Given the description of an element on the screen output the (x, y) to click on. 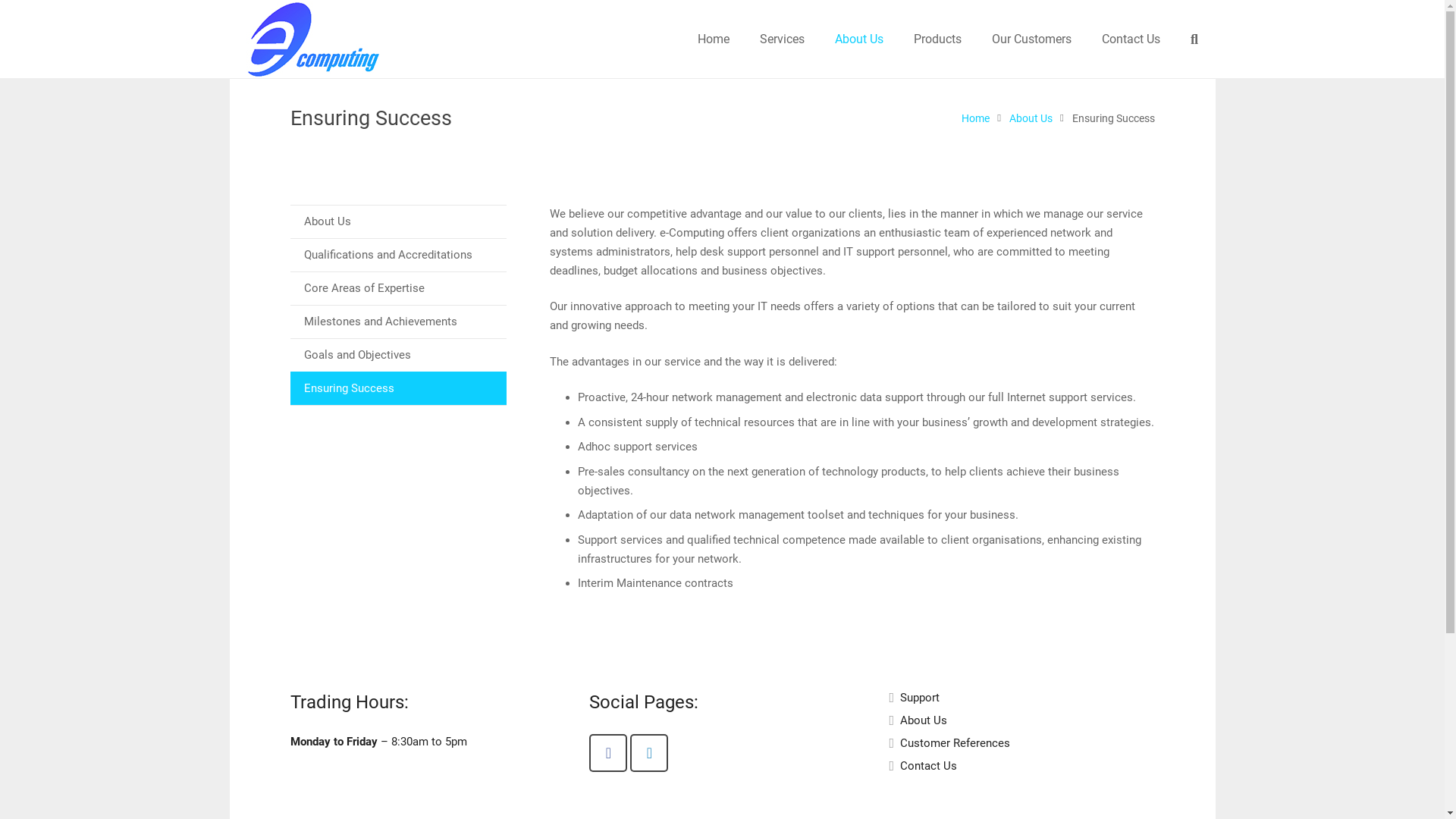
Services Element type: text (781, 39)
Contact Us Element type: text (1130, 39)
Ensuring Success Element type: text (397, 387)
Search Element type: hover (1194, 38)
About Us Element type: text (858, 39)
Qualifications and Accreditations Element type: text (397, 254)
Support Element type: text (919, 697)
Milestones and Achievements Element type: text (397, 321)
About Us Element type: text (1030, 118)
About Us Element type: text (923, 720)
Contact Us Element type: text (928, 765)
Our Customers Element type: text (1031, 39)
Customer References Element type: text (955, 742)
Home Element type: text (975, 118)
Goals and Objectives Element type: text (397, 354)
Products Element type: text (937, 39)
Core Areas of Expertise Element type: text (397, 287)
About Us Element type: text (397, 221)
Home Element type: text (713, 39)
